Given the description of an element on the screen output the (x, y) to click on. 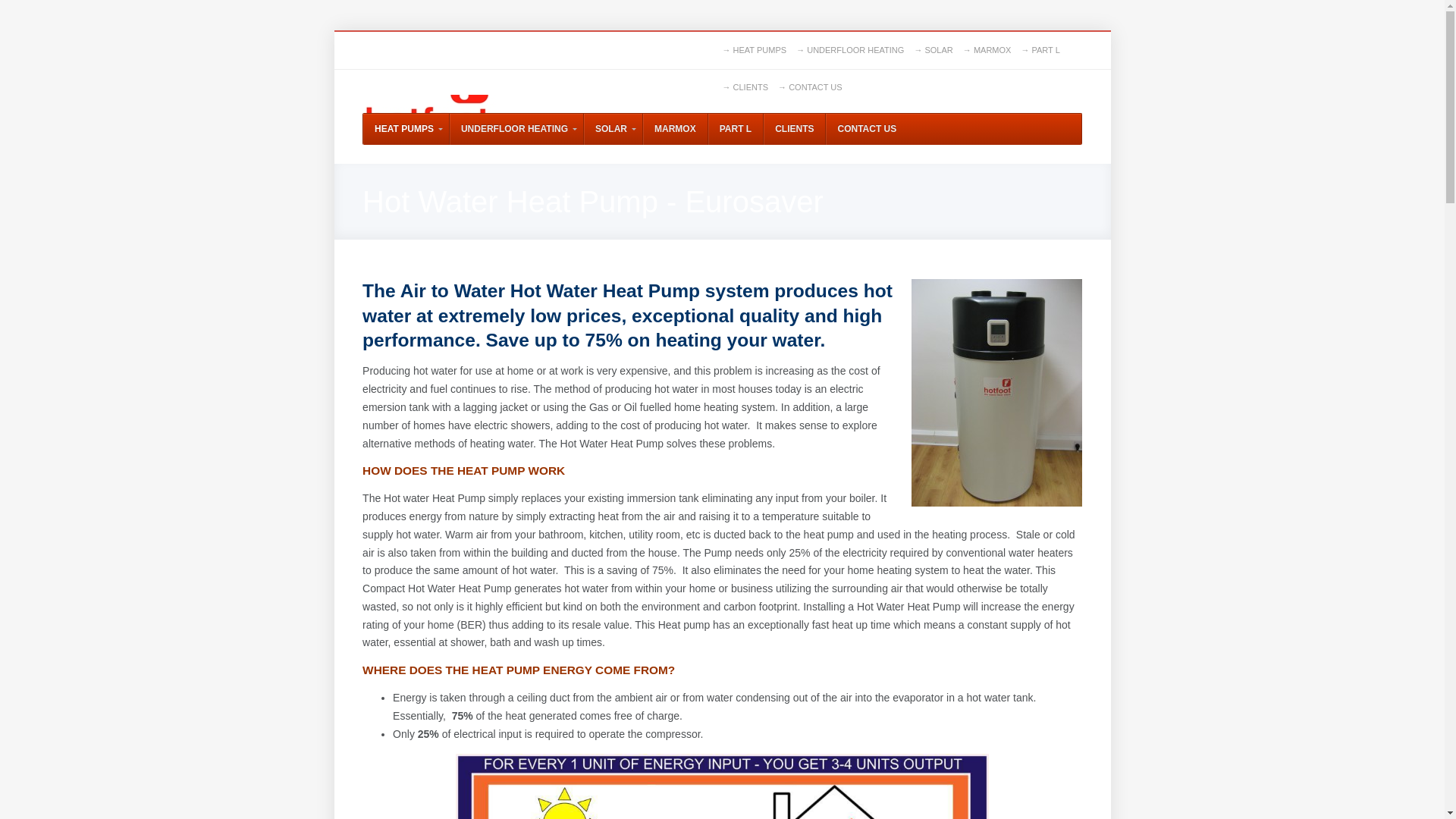
Hotfoot (430, 104)
MARMOX (674, 128)
SOLAR (612, 128)
HEAT PUMPS (405, 128)
Hotfoot (430, 104)
PART L (734, 128)
UNDERFLOOR HEATING (515, 128)
CONTACT US (866, 128)
CLIENTS (793, 128)
